Given the description of an element on the screen output the (x, y) to click on. 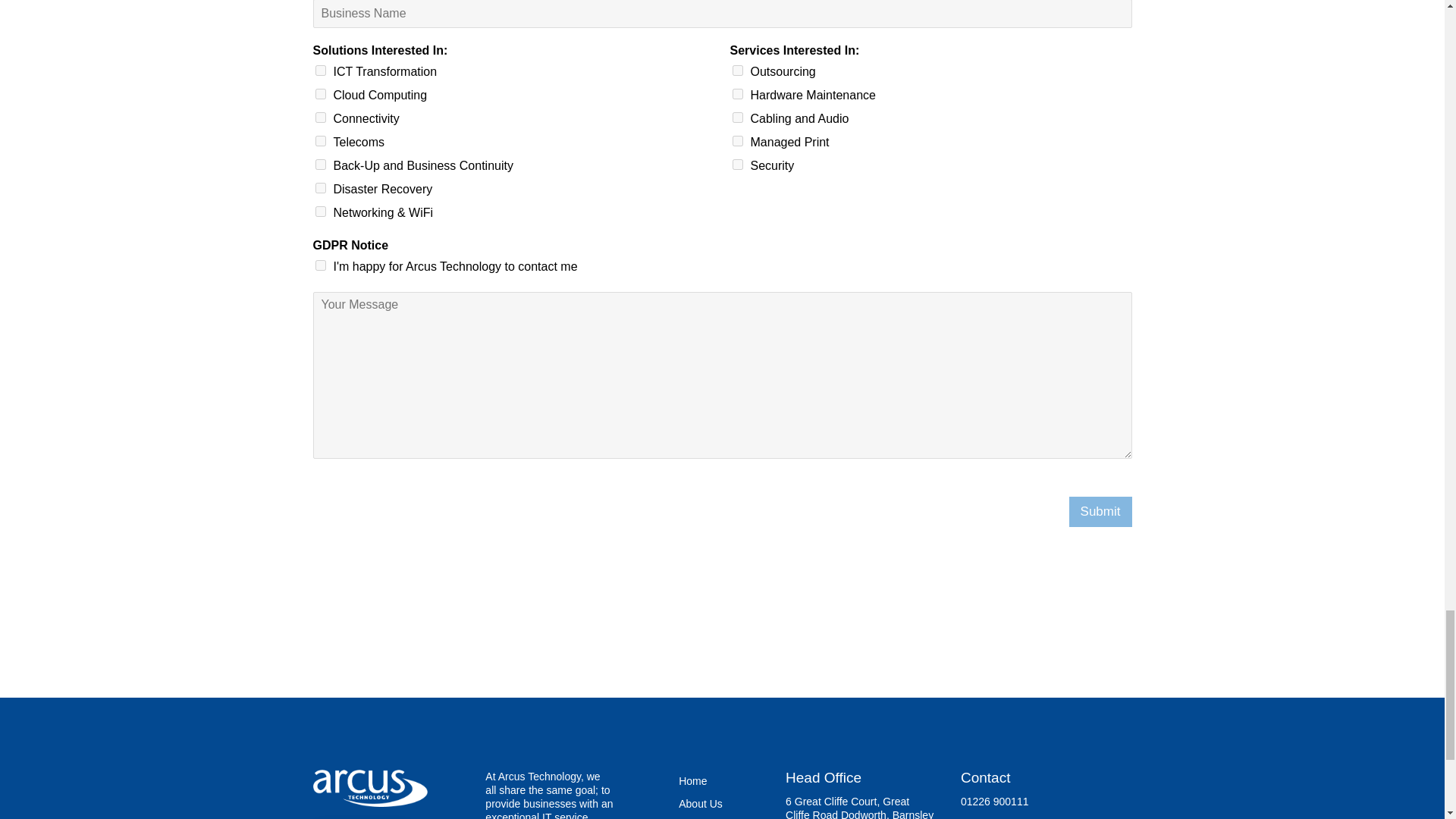
I'm happy for Arcus Technology to contact me (320, 265)
Cabling and Audio (737, 117)
ICT Transformation (320, 70)
Disaster Recovery (320, 187)
Cloud Computing (320, 93)
Outsourcing (737, 70)
Hardware Maintenance (737, 93)
Connectivity (320, 117)
 Security (737, 163)
Back-Up and Business Continuity (320, 163)
